Given the description of an element on the screen output the (x, y) to click on. 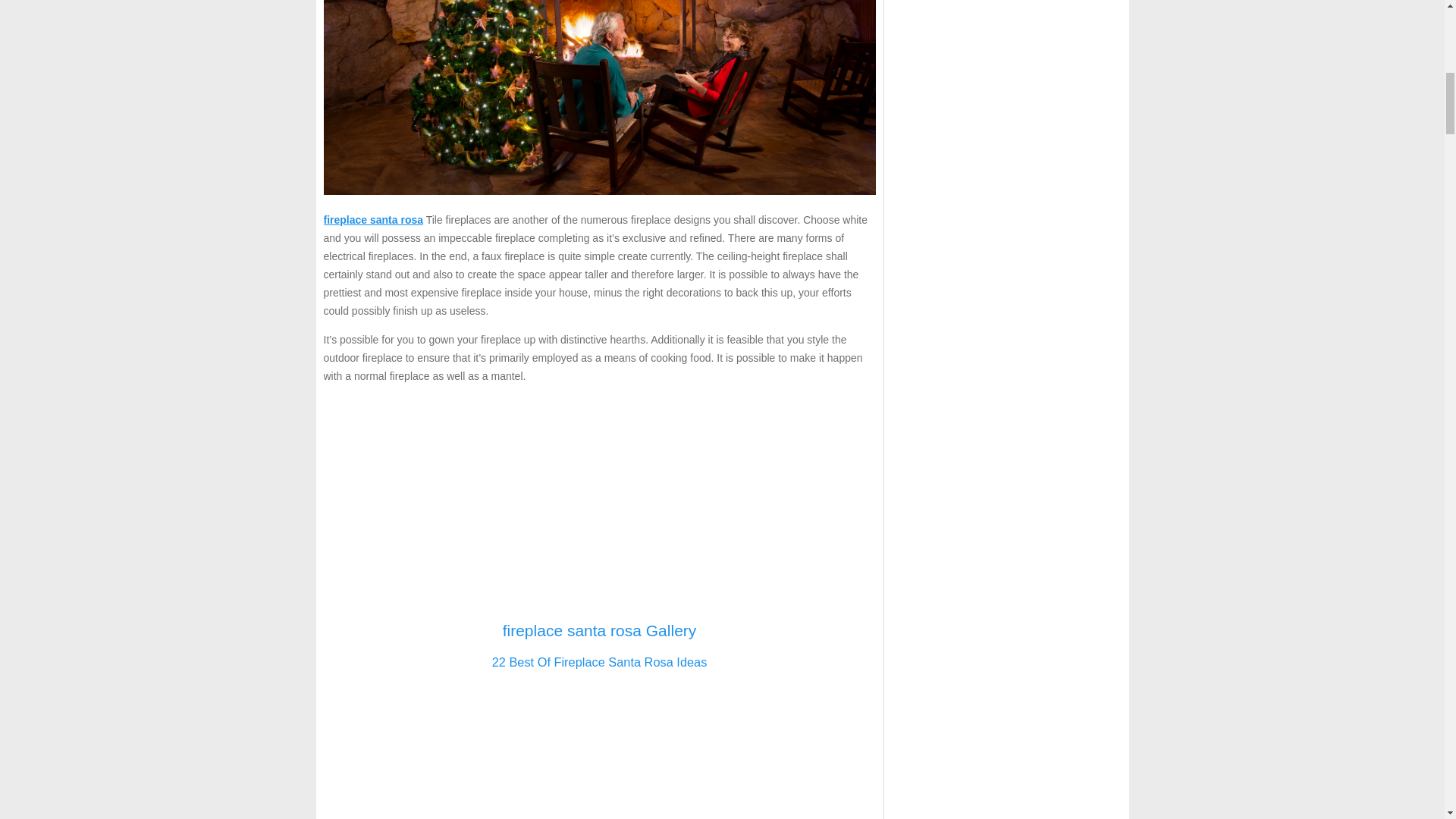
fireplace santa rosa (373, 219)
fireplace santa rosa (373, 219)
Advertisement (599, 751)
Advertisement (599, 501)
